Given the description of an element on the screen output the (x, y) to click on. 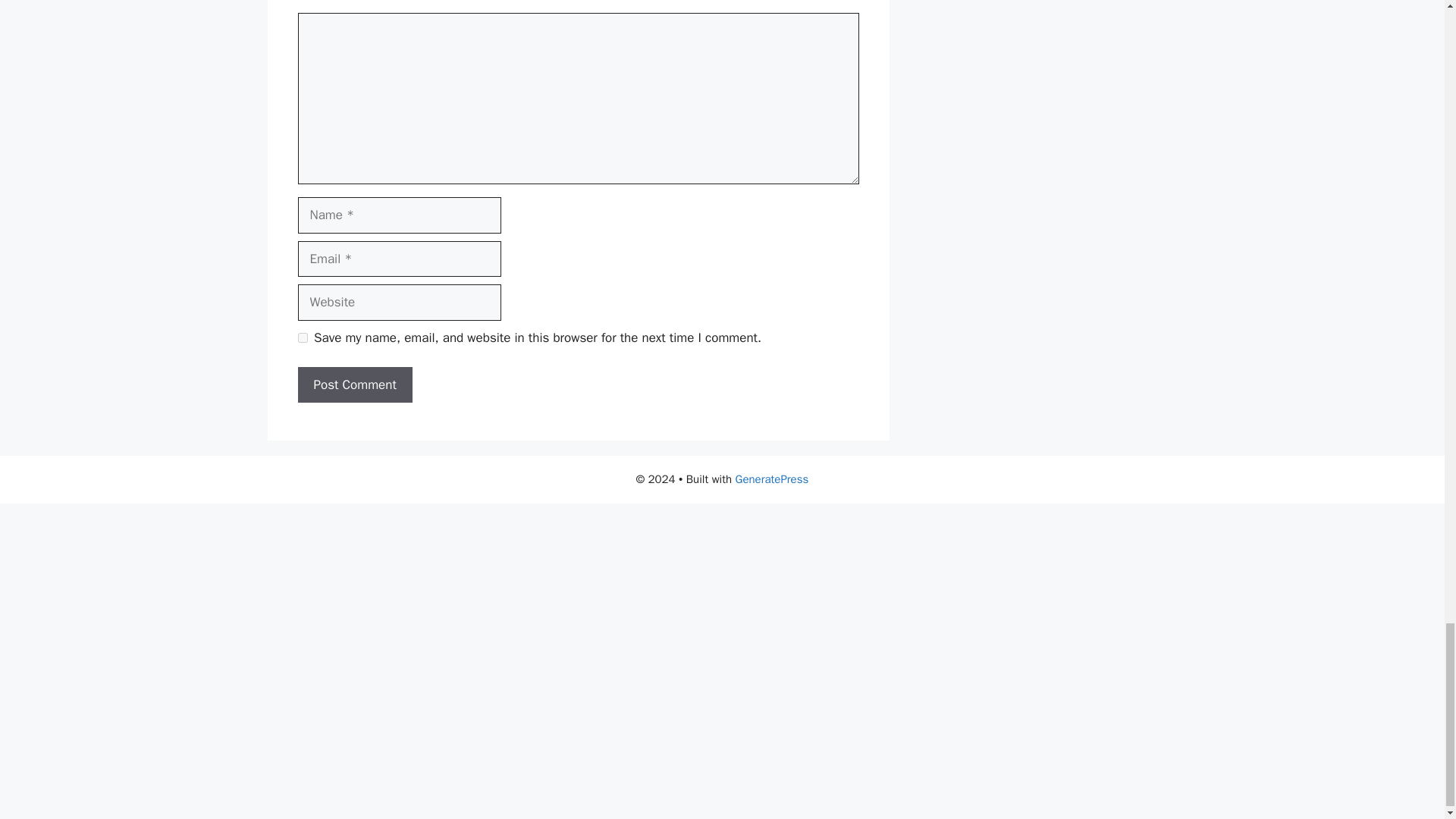
Post Comment (354, 384)
yes (302, 337)
GeneratePress (772, 479)
Post Comment (354, 384)
